Given the description of an element on the screen output the (x, y) to click on. 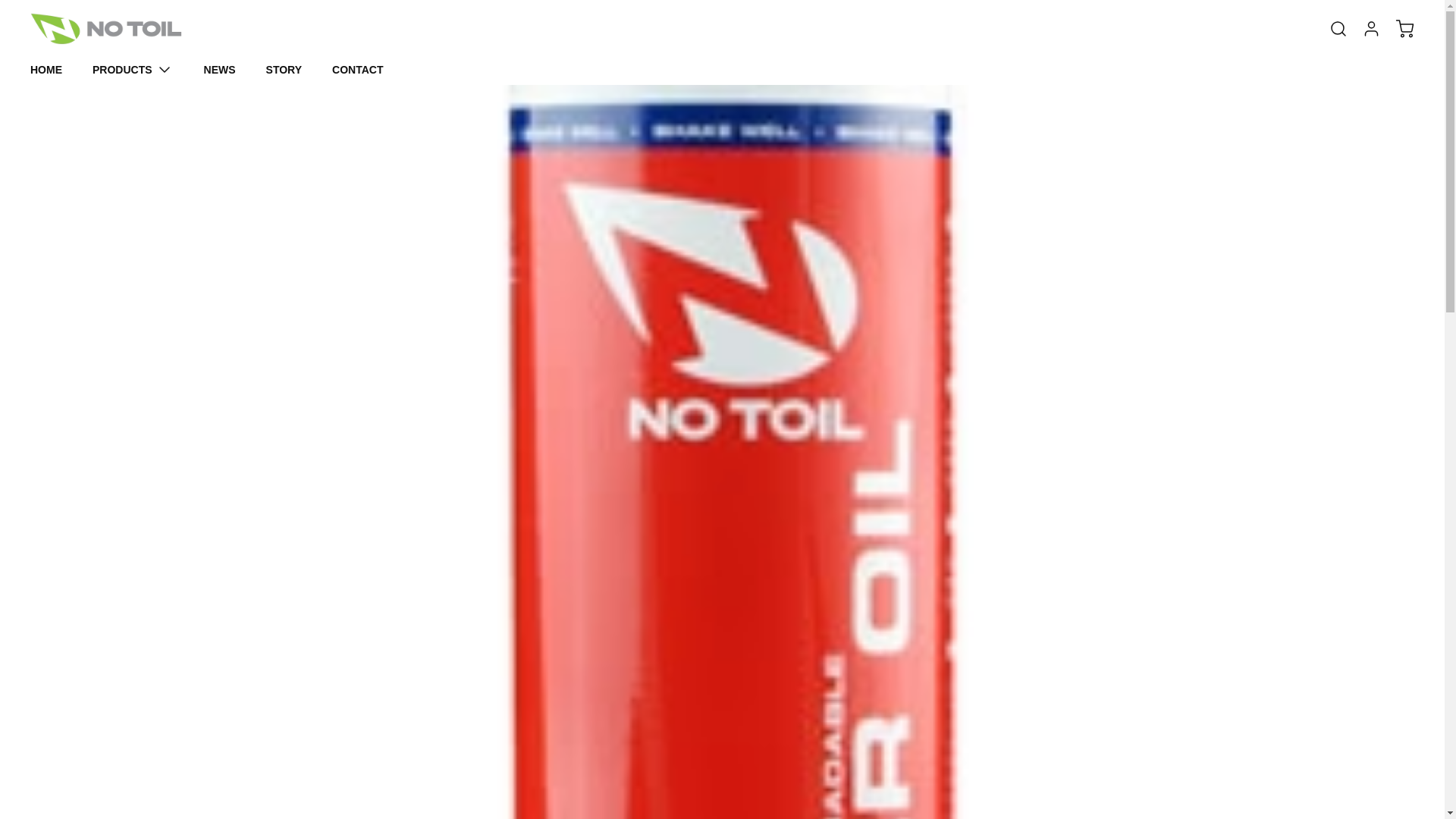
STORY (283, 69)
CONTACT (356, 69)
NEWS (219, 69)
HOME (46, 69)
PRODUCTS (133, 69)
